Given the description of an element on the screen output the (x, y) to click on. 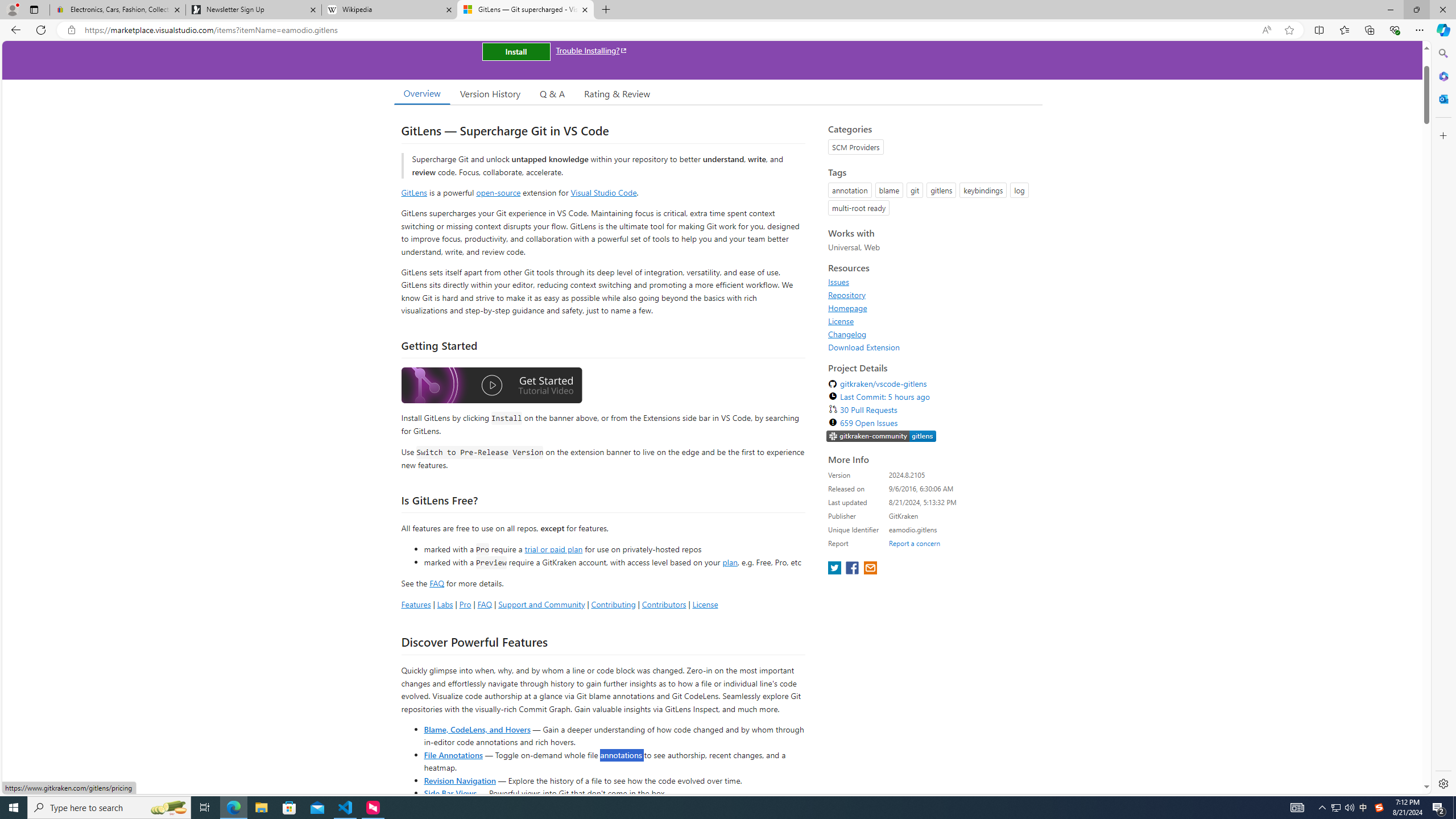
Pro (464, 603)
Contributors (663, 603)
open-source (498, 192)
Overview (421, 92)
Blame, CodeLens, and Hovers (476, 728)
File Annotations (453, 754)
Changelog (847, 333)
Q & A (552, 92)
License (840, 320)
https://slack.gitkraken.com// (881, 436)
